Given the description of an element on the screen output the (x, y) to click on. 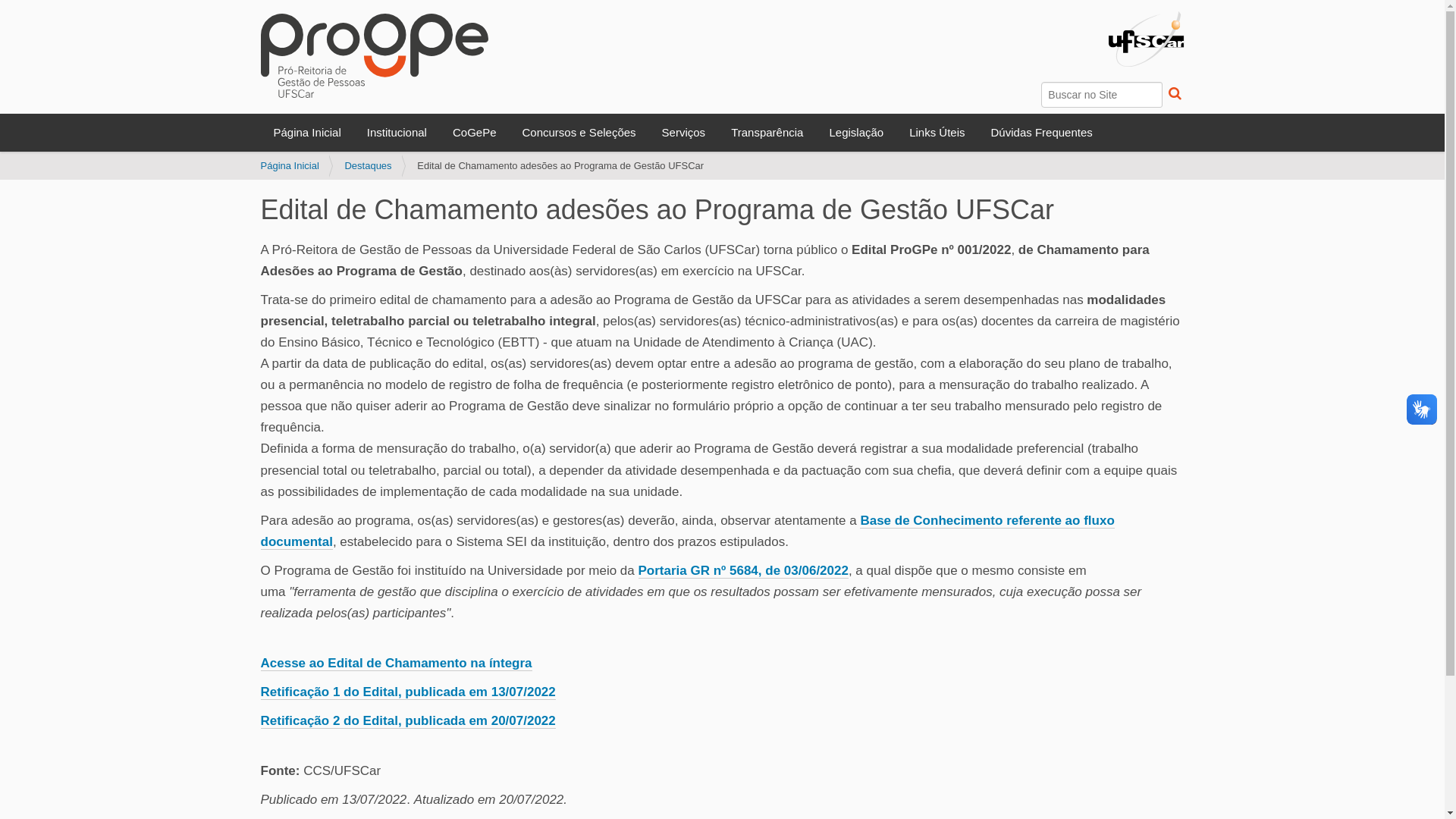
Portal UFSCar Element type: hover (1146, 38)
Destaques Element type: text (367, 165)
CoGePe Element type: text (474, 132)
Buscar no Site Element type: hover (1101, 94)
ProGPe Element type: hover (374, 55)
Base de Conhecimento referente ao fluxo documental Element type: text (687, 531)
Institucional Element type: text (396, 132)
